Given the description of an element on the screen output the (x, y) to click on. 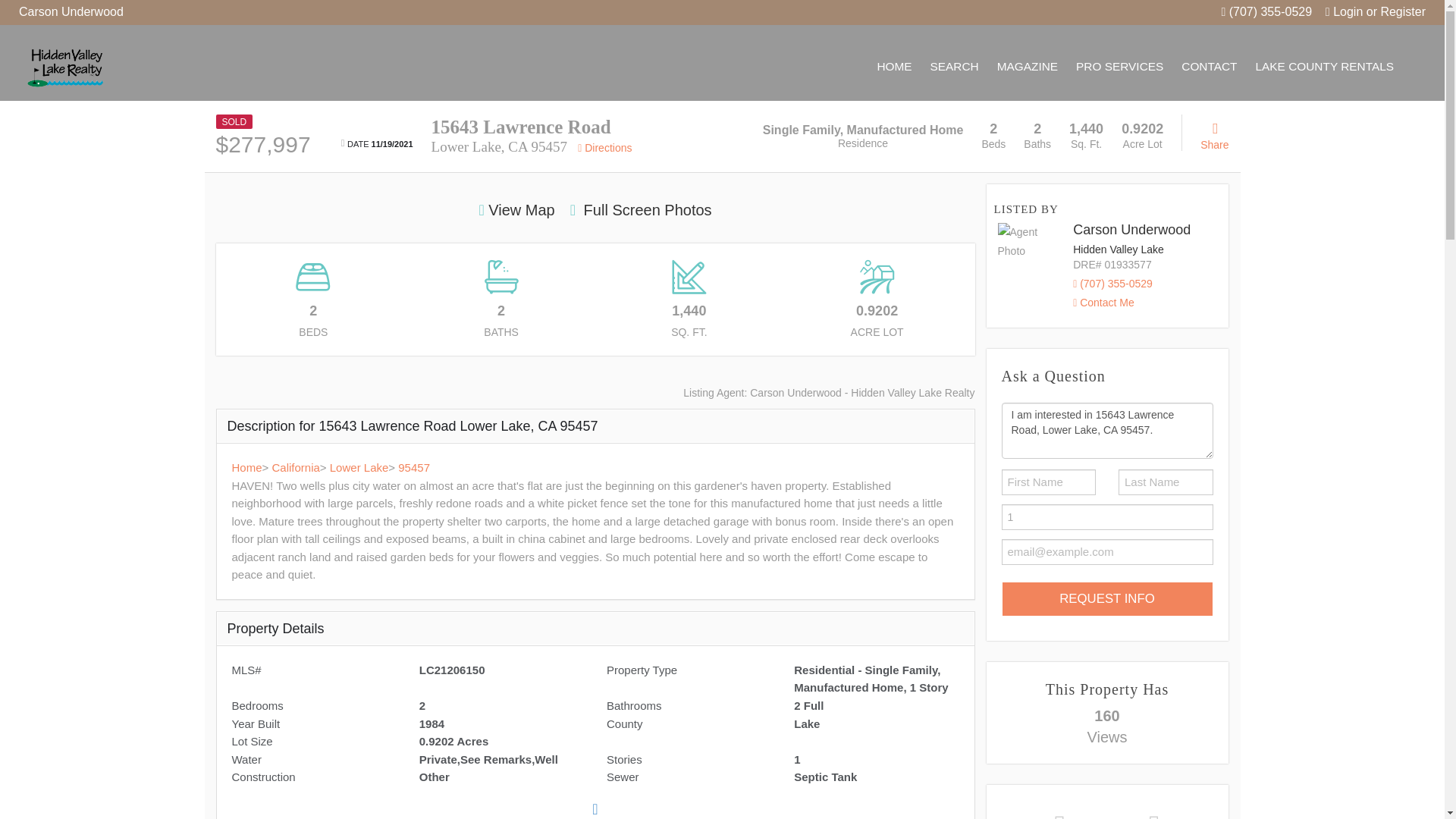
HOME (893, 66)
LAKE COUNTY RENTALS (1324, 66)
Questions or comments?  Email, call, fax or write us. (1209, 66)
Directions (604, 147)
SEARCH (954, 66)
1 (1106, 516)
Find the perfect home, schedule showing times and more! (954, 66)
CONTACT (1209, 66)
PRO SERVICES (1119, 66)
